Given the description of an element on the screen output the (x, y) to click on. 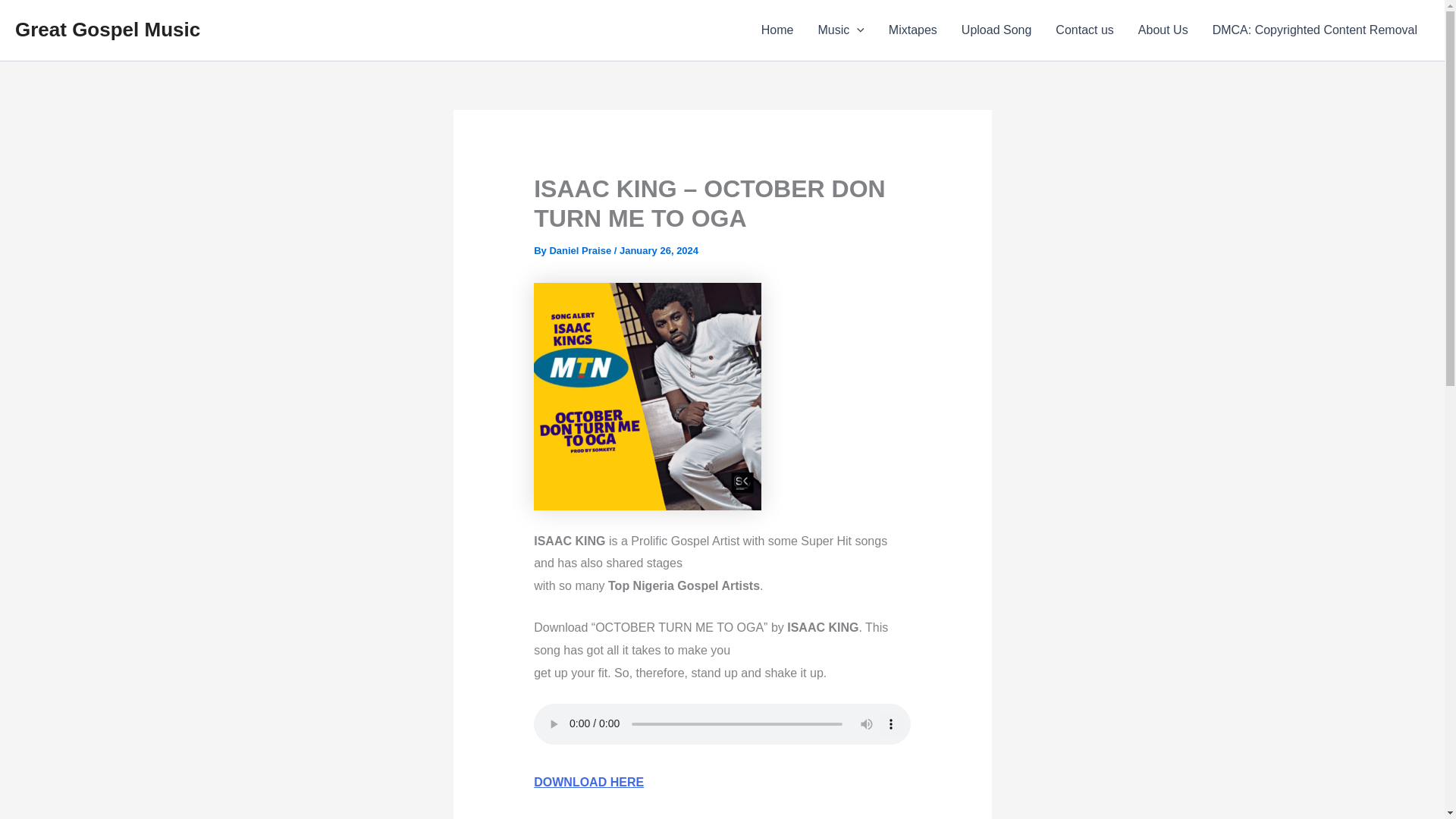
Contact us (1084, 30)
View all posts by Daniel Praise (580, 250)
Home (777, 30)
Mixtapes (912, 30)
About Us (1162, 30)
DMCA: Copyrighted Content Removal (1314, 30)
Daniel Praise (580, 250)
Music (840, 30)
Great Gospel Music (107, 29)
DOWNLOAD HERE (588, 781)
